Given the description of an element on the screen output the (x, y) to click on. 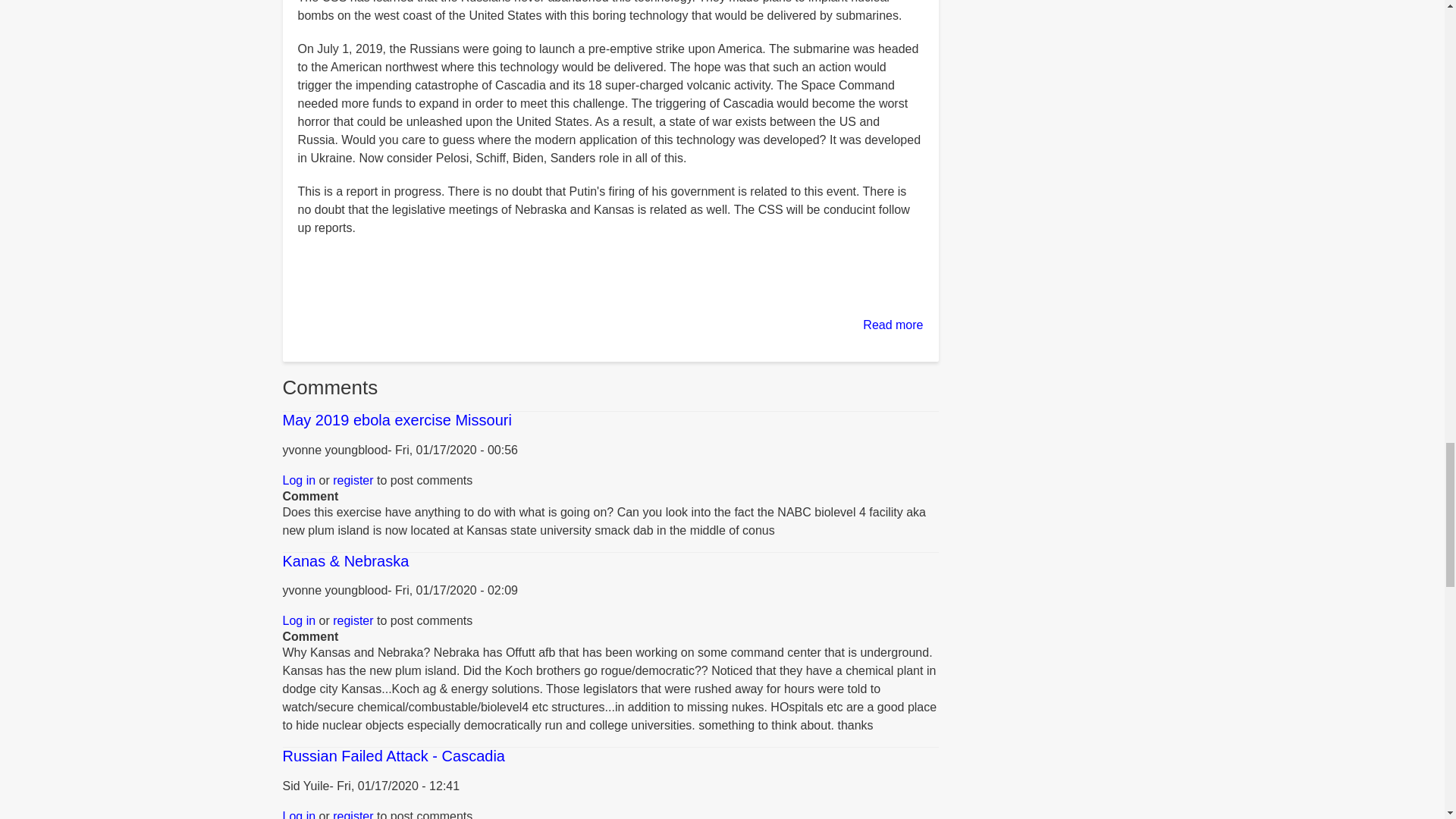
Log in (298, 480)
May 2019 ebola exercise Missouri (396, 419)
Read more (893, 324)
